Given the description of an element on the screen output the (x, y) to click on. 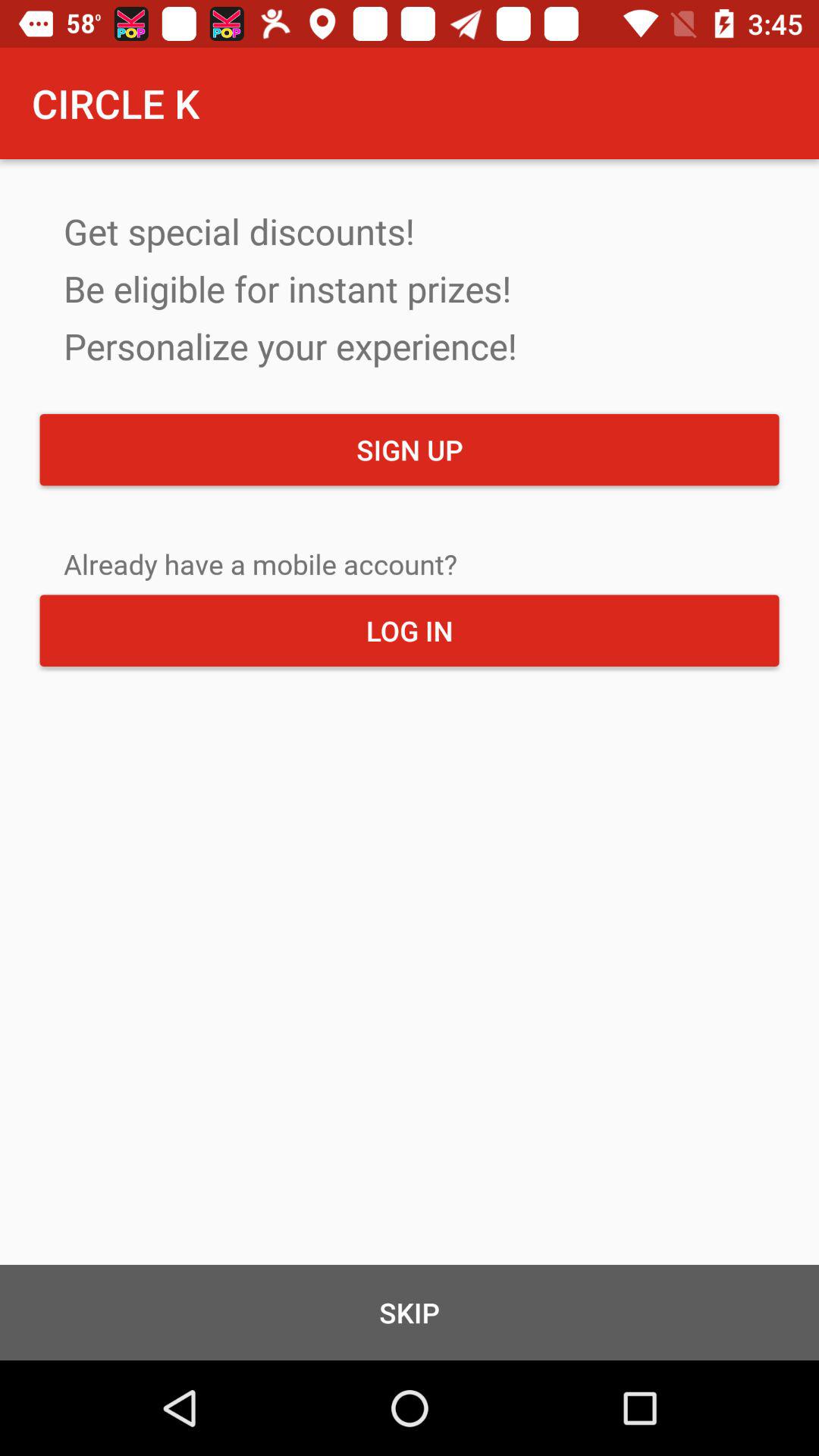
select icon above the already have a item (409, 449)
